Given the description of an element on the screen output the (x, y) to click on. 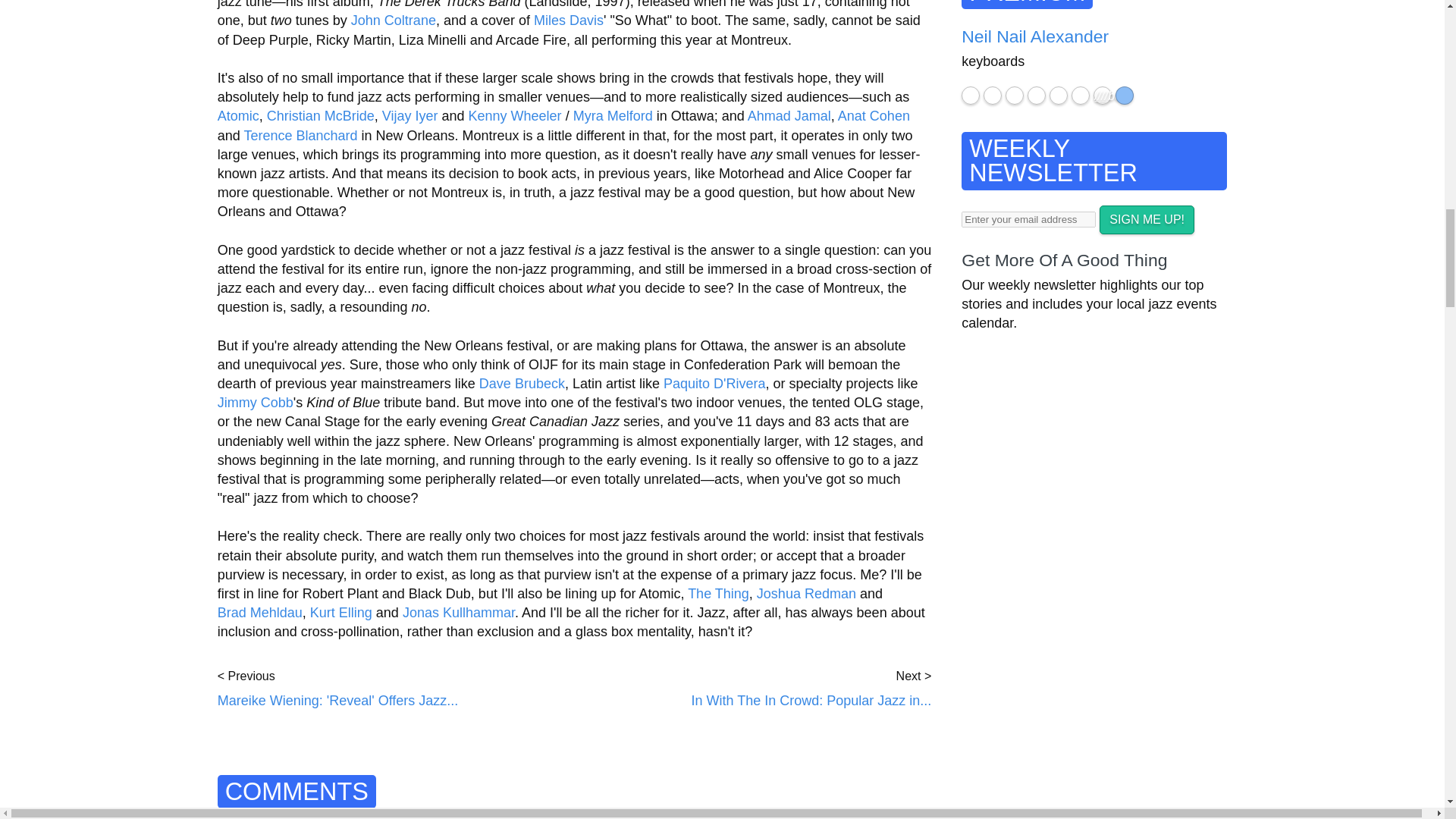
Miles Davis (569, 20)
John Coltrane (392, 20)
Kenny Wheeler (515, 115)
Vijay Iyer (409, 115)
Christian McBride (320, 115)
Atomic (237, 115)
